Given the description of an element on the screen output the (x, y) to click on. 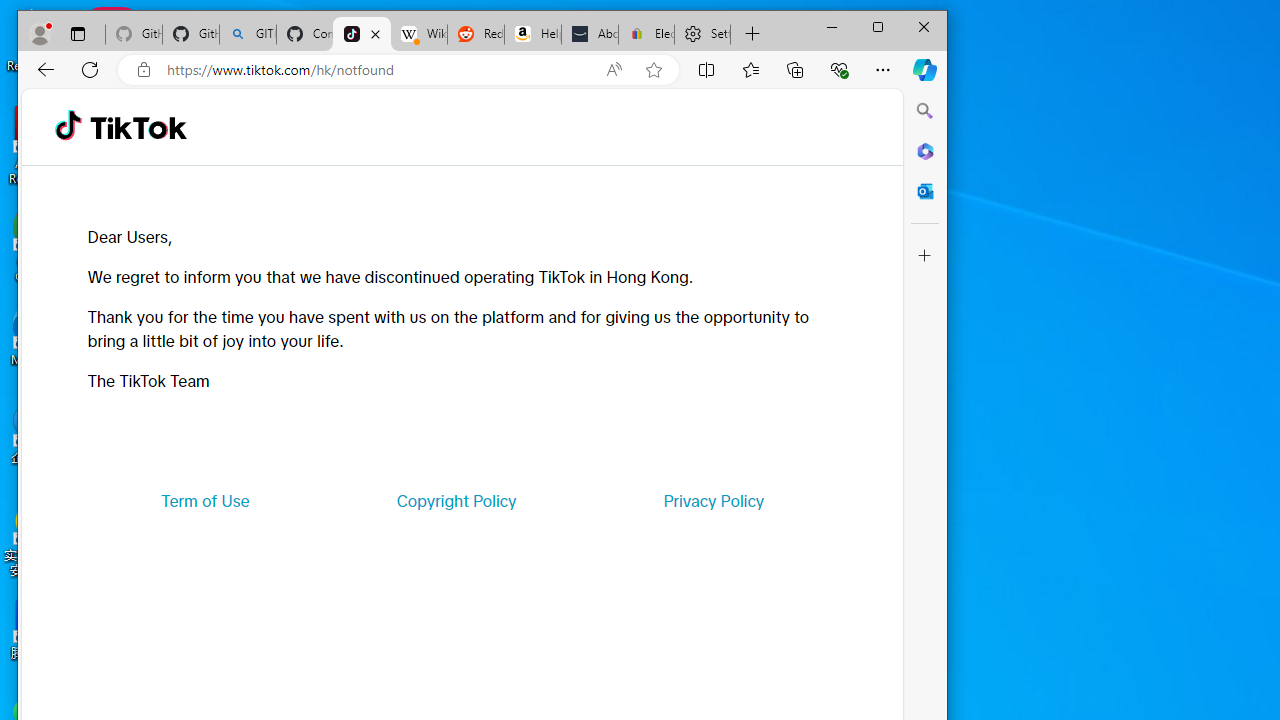
About Amazon (589, 34)
Wikipedia, the free encyclopedia (418, 34)
TikTok (138, 126)
TikTok (362, 34)
Privacy Policy (713, 500)
Maximize (878, 26)
